Given the description of an element on the screen output the (x, y) to click on. 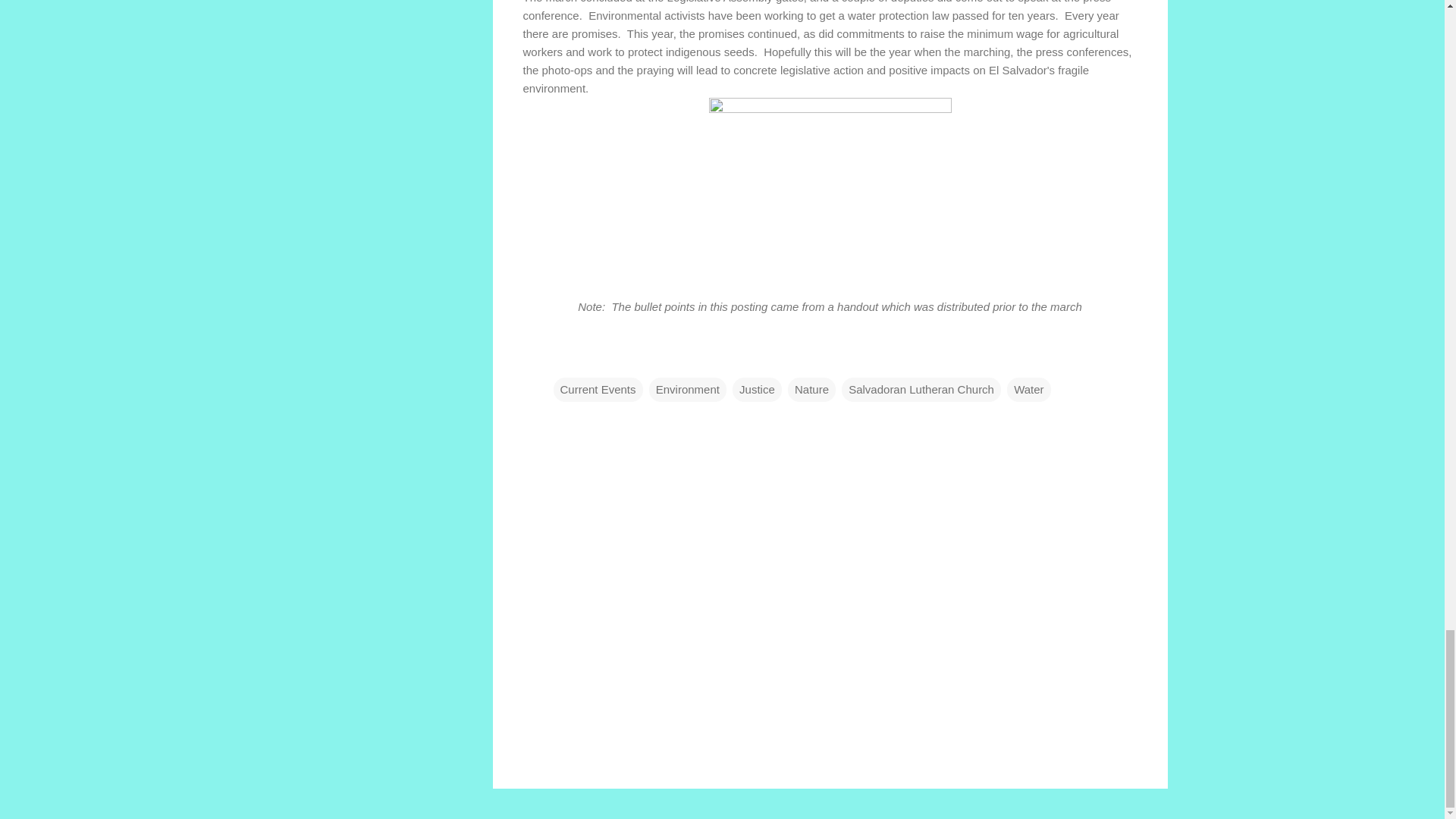
Environment (687, 389)
Current Events (598, 389)
Email Post (562, 358)
Nature (811, 389)
Salvadoran Lutheran Church (921, 389)
Water (1028, 389)
Justice (756, 389)
